Given the description of an element on the screen output the (x, y) to click on. 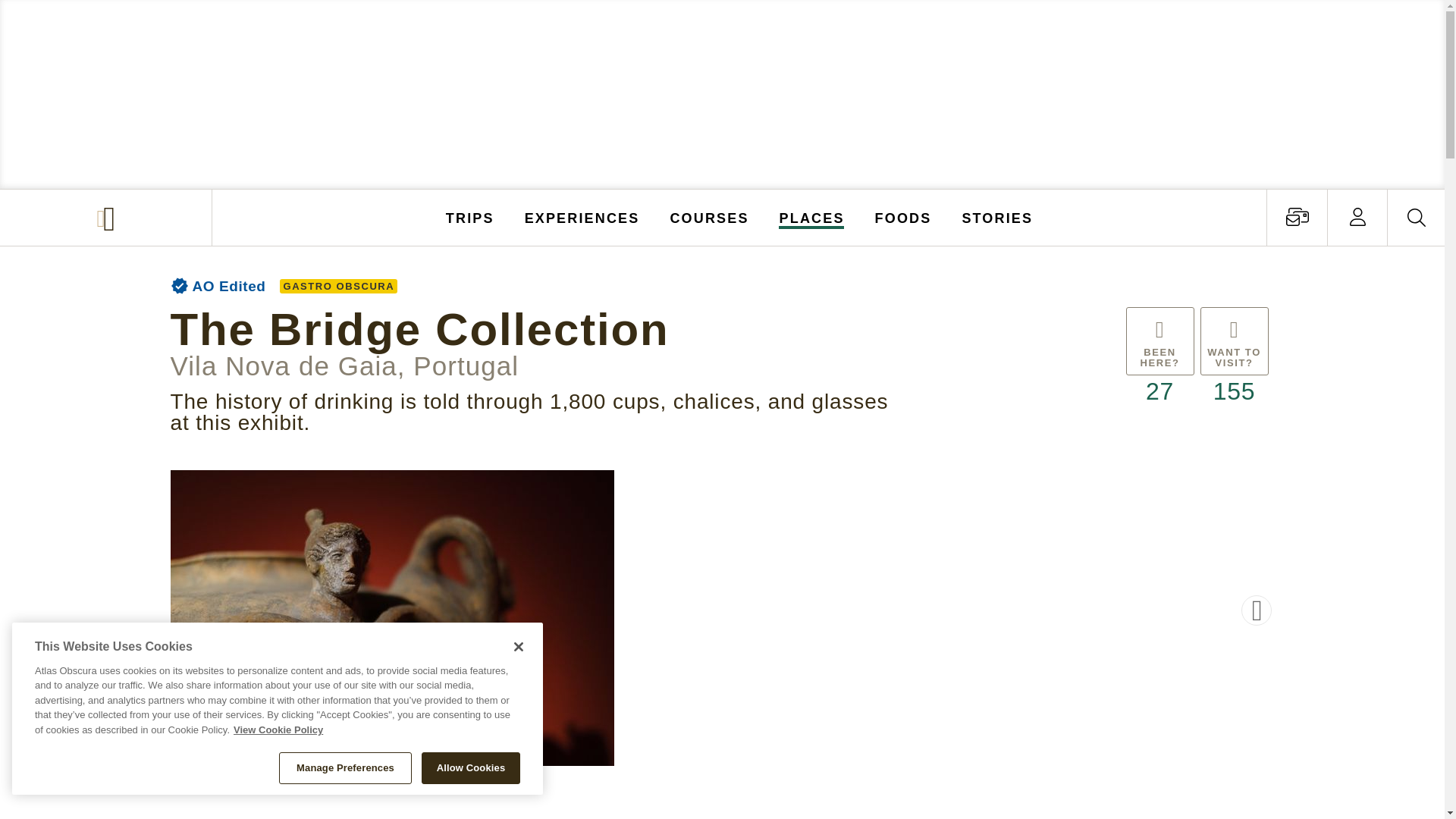
PLACES (812, 217)
COURSES (707, 217)
EXPERIENCES (582, 217)
TRIPS (469, 217)
